Given the description of an element on the screen output the (x, y) to click on. 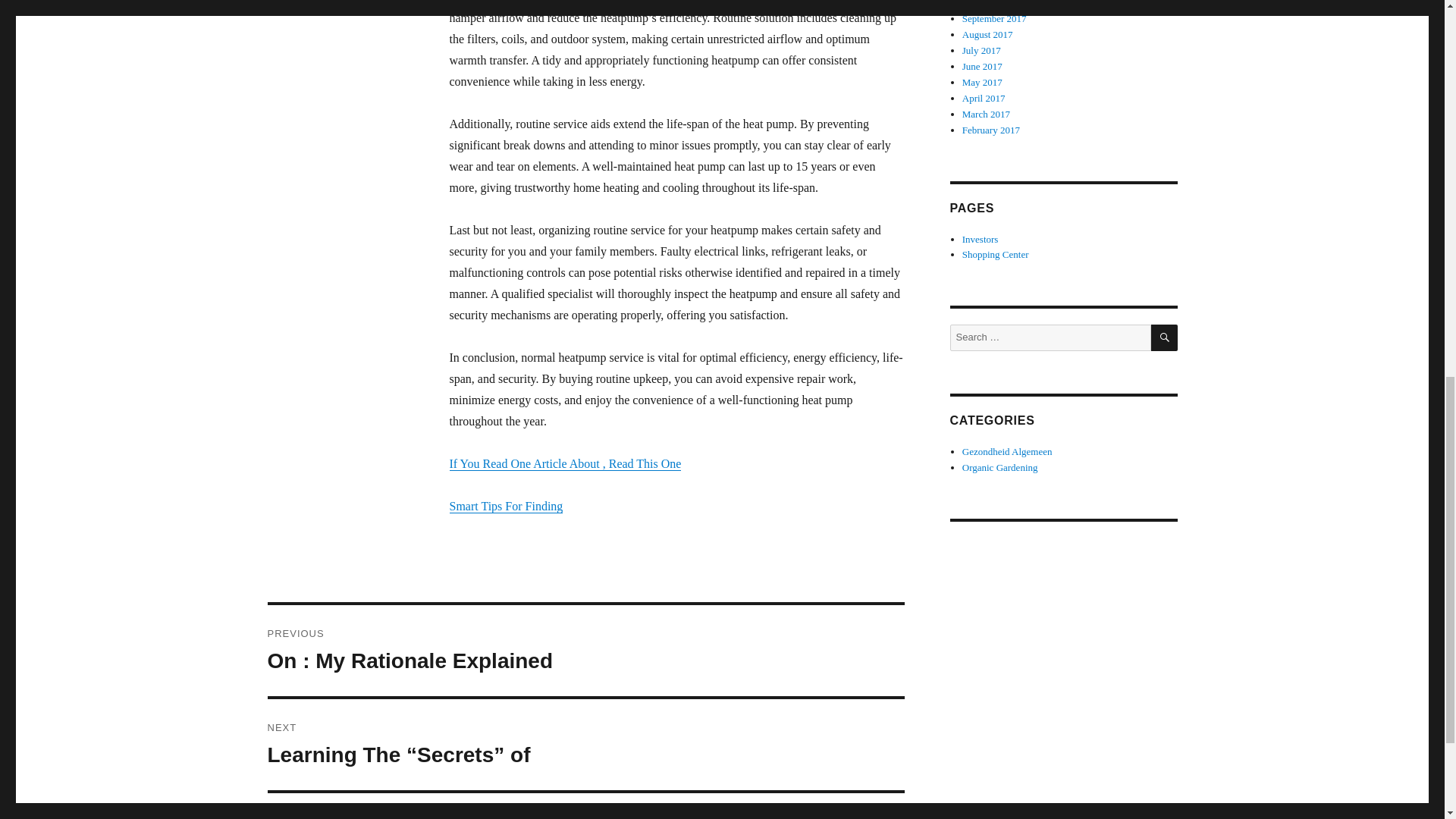
SEARCH (1164, 337)
April 2017 (984, 98)
May 2017 (982, 81)
October 2017 (989, 4)
If You Read One Article About , Read This One (564, 463)
Smart Tips For Finding (505, 505)
Shopping Center (995, 254)
Organic Gardening (1000, 467)
March 2017 (585, 650)
Investors (986, 113)
February 2017 (980, 238)
June 2017 (991, 129)
Gezondheid Algemeen (982, 66)
September 2017 (1007, 451)
